Given the description of an element on the screen output the (x, y) to click on. 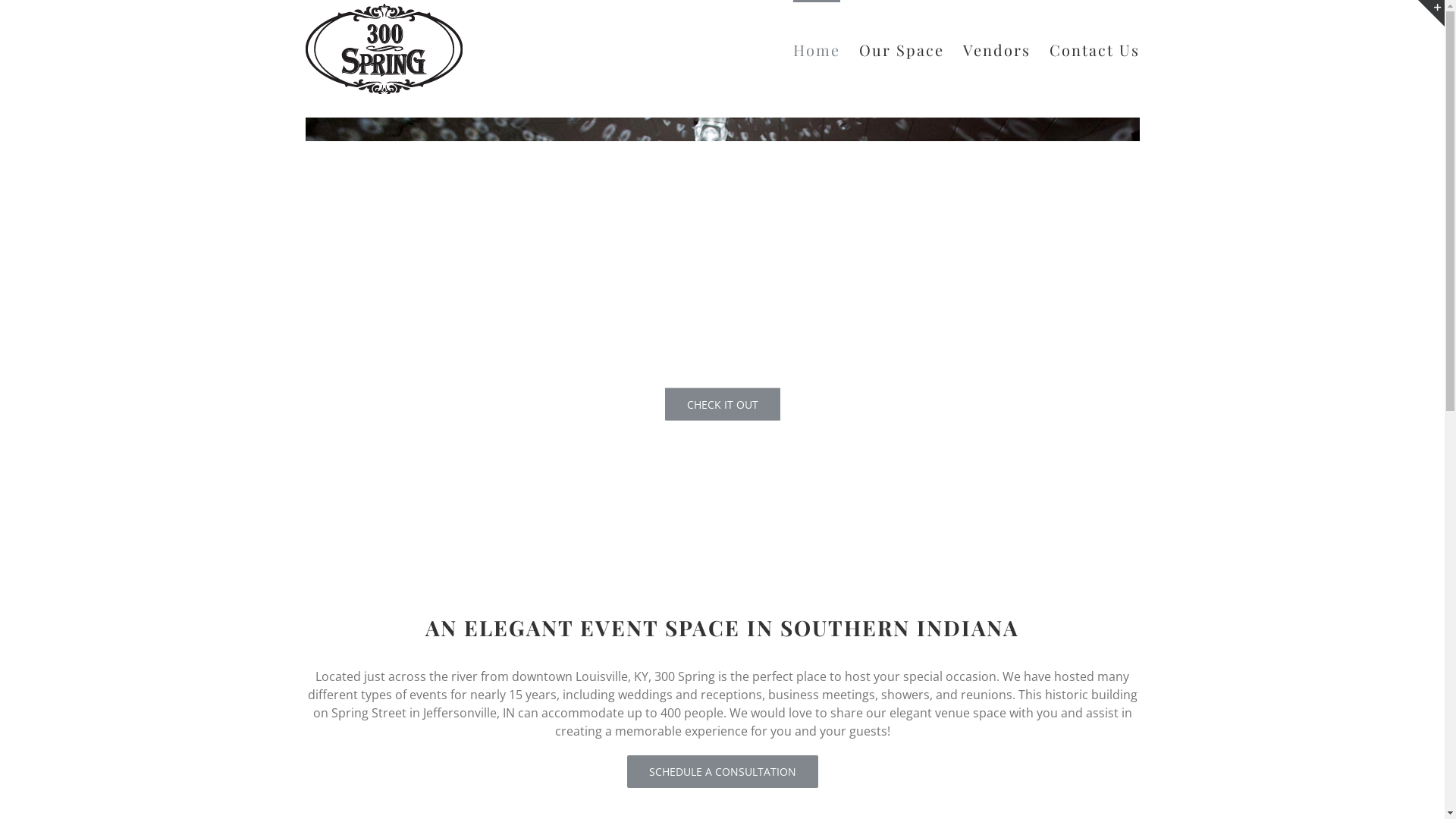
Our Space Element type: text (900, 48)
SCHEDULE A CONSULTATION Element type: text (721, 771)
Vendors Element type: text (996, 48)
Home Element type: text (816, 48)
CHECK IT OUT Element type: text (722, 403)
Contact Us Element type: text (1094, 48)
